Given the description of an element on the screen output the (x, y) to click on. 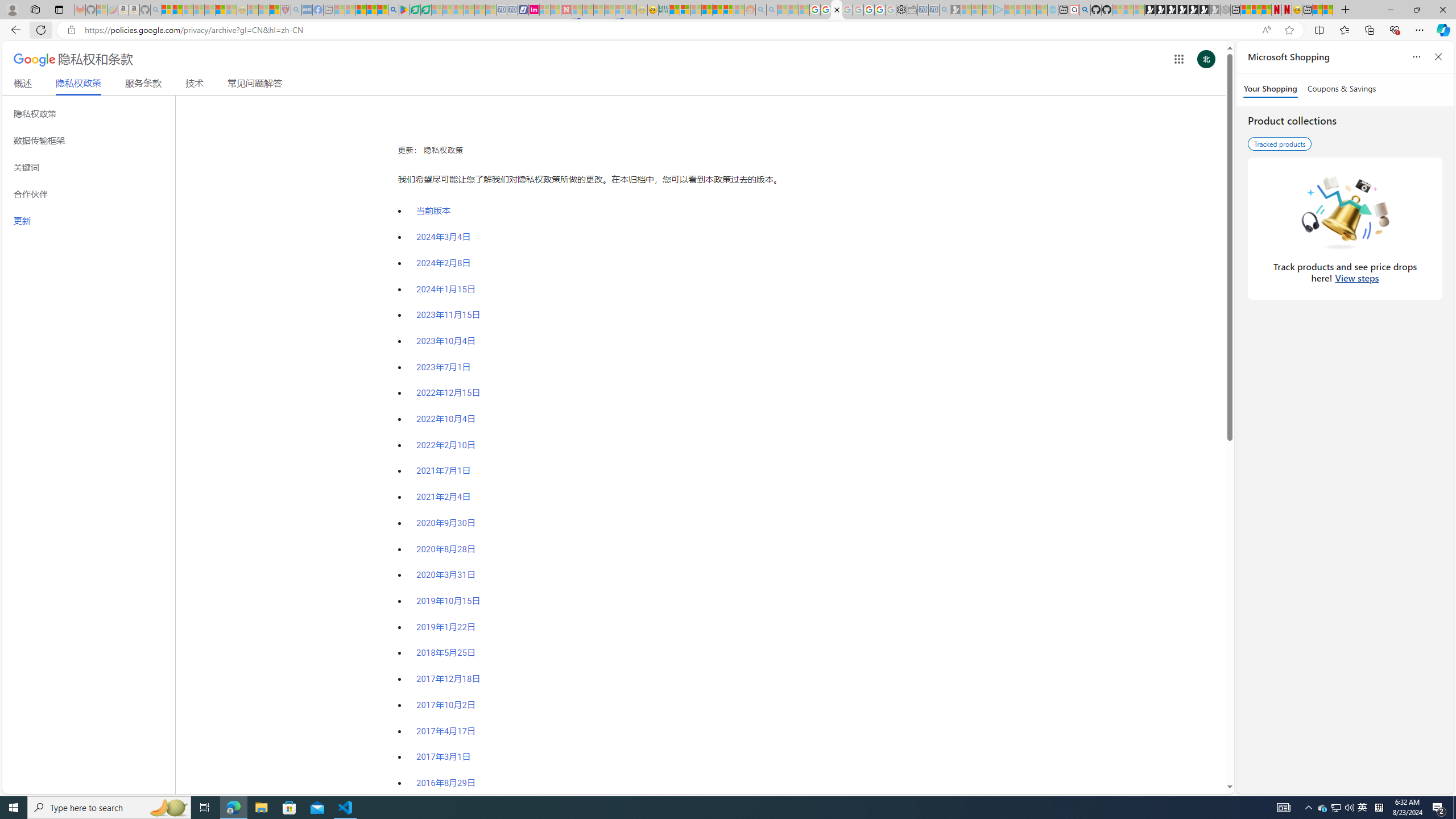
Wildlife - MSN (1317, 9)
